Given the description of an element on the screen output the (x, y) to click on. 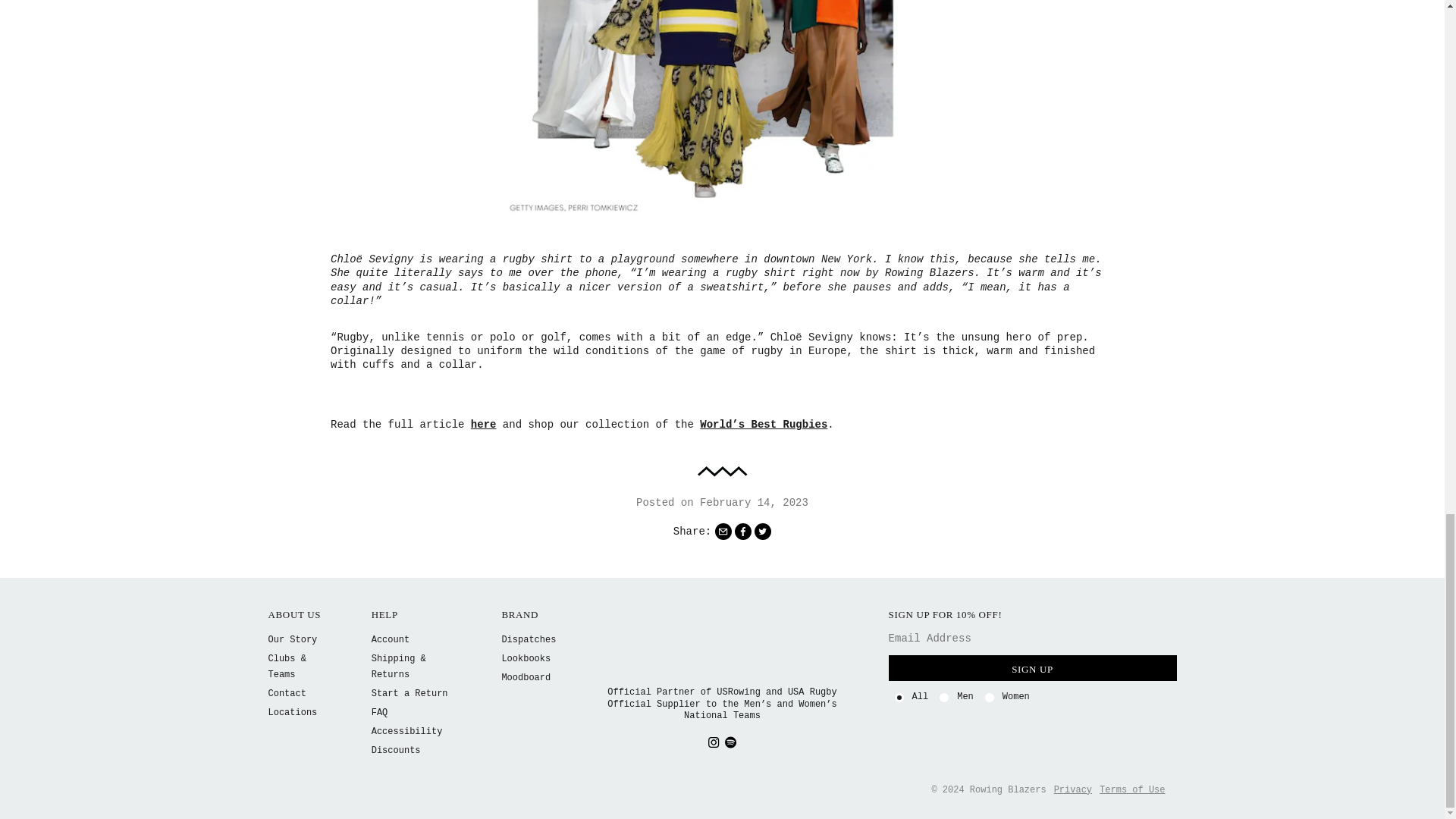
women (989, 697)
men (944, 697)
all (898, 697)
